Given the description of an element on the screen output the (x, y) to click on. 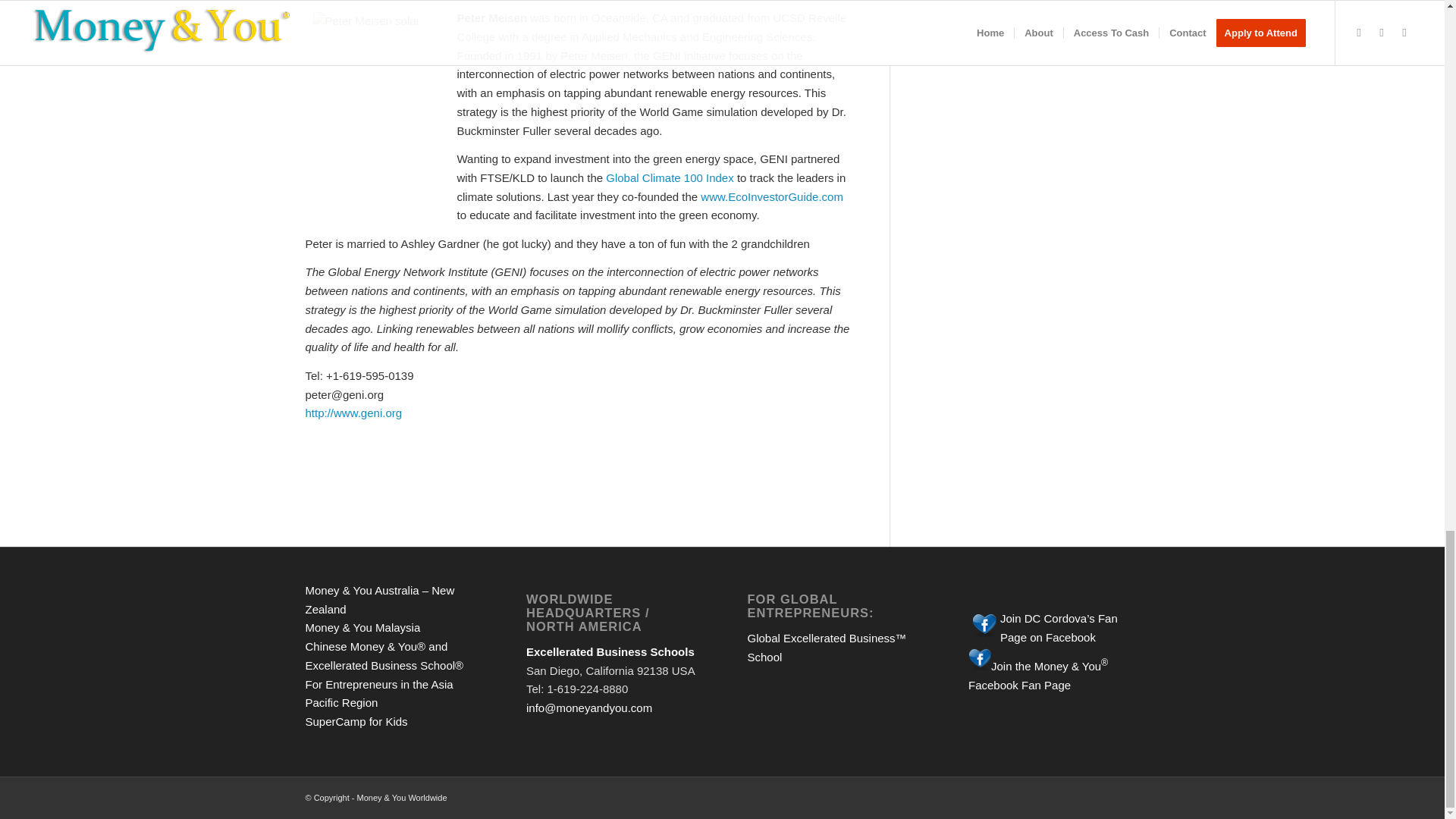
www.EcoInvestorGuide.com (771, 196)
SuperCamp for Kids (355, 721)
facebook (983, 624)
Global Climate 100 Index (670, 177)
facebook (979, 658)
